Given the description of an element on the screen output the (x, y) to click on. 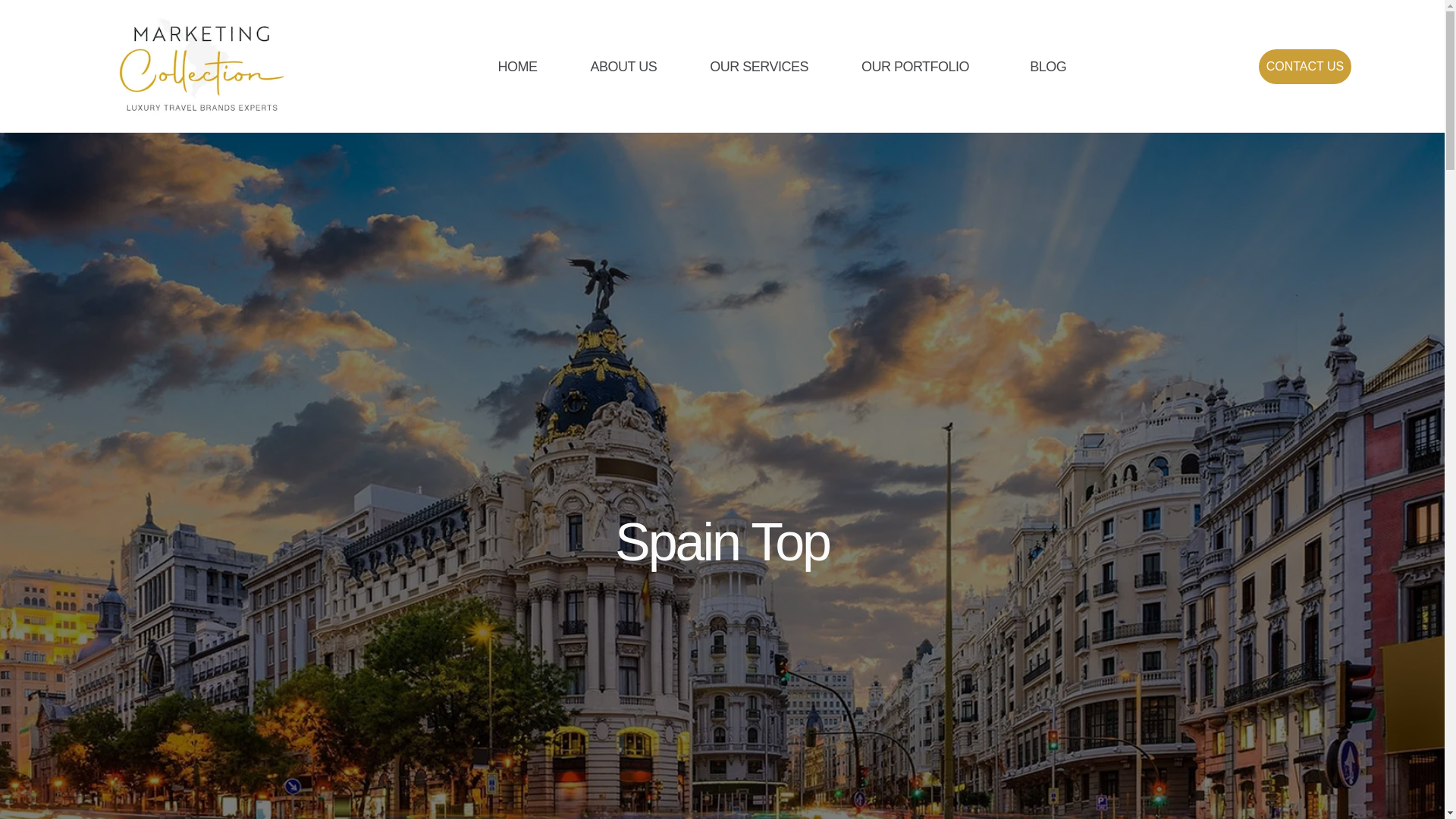
HOME (518, 66)
OUR SERVICES (759, 66)
BLOG (1047, 66)
ABOUT US (623, 66)
OUR PORTFOLIO (918, 66)
